Given the description of an element on the screen output the (x, y) to click on. 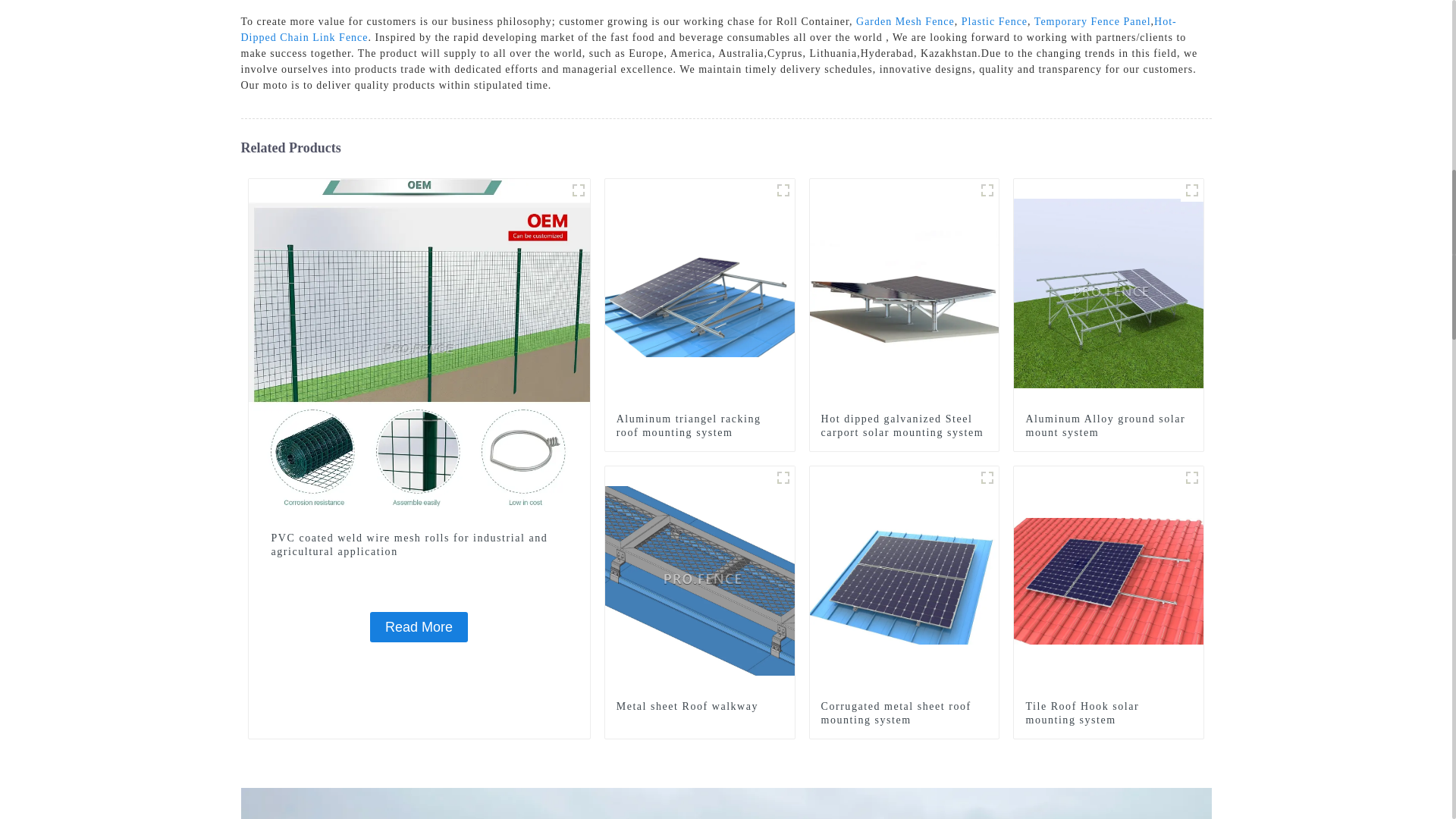
Plastic Fence (993, 21)
Hot dipped galvanized Steel carport solar mounting system (904, 425)
Hot-Dipped Chain Link Fence (708, 29)
Aluminum Alloy ground solar mount system  (1108, 292)
Aluminum triangel racking roof mounting system (699, 425)
Temporary Fence Panel (1092, 21)
Garden Mesh Fence (905, 21)
Temporary Fence Panel (1092, 21)
Aluminum triangle solar mounting system (782, 190)
Garden Mesh Fence (905, 21)
Plastic Fence (993, 21)
Aluminum triangel racking roof mounting system (699, 292)
aluminum alloy mount system (1192, 190)
